Given the description of an element on the screen output the (x, y) to click on. 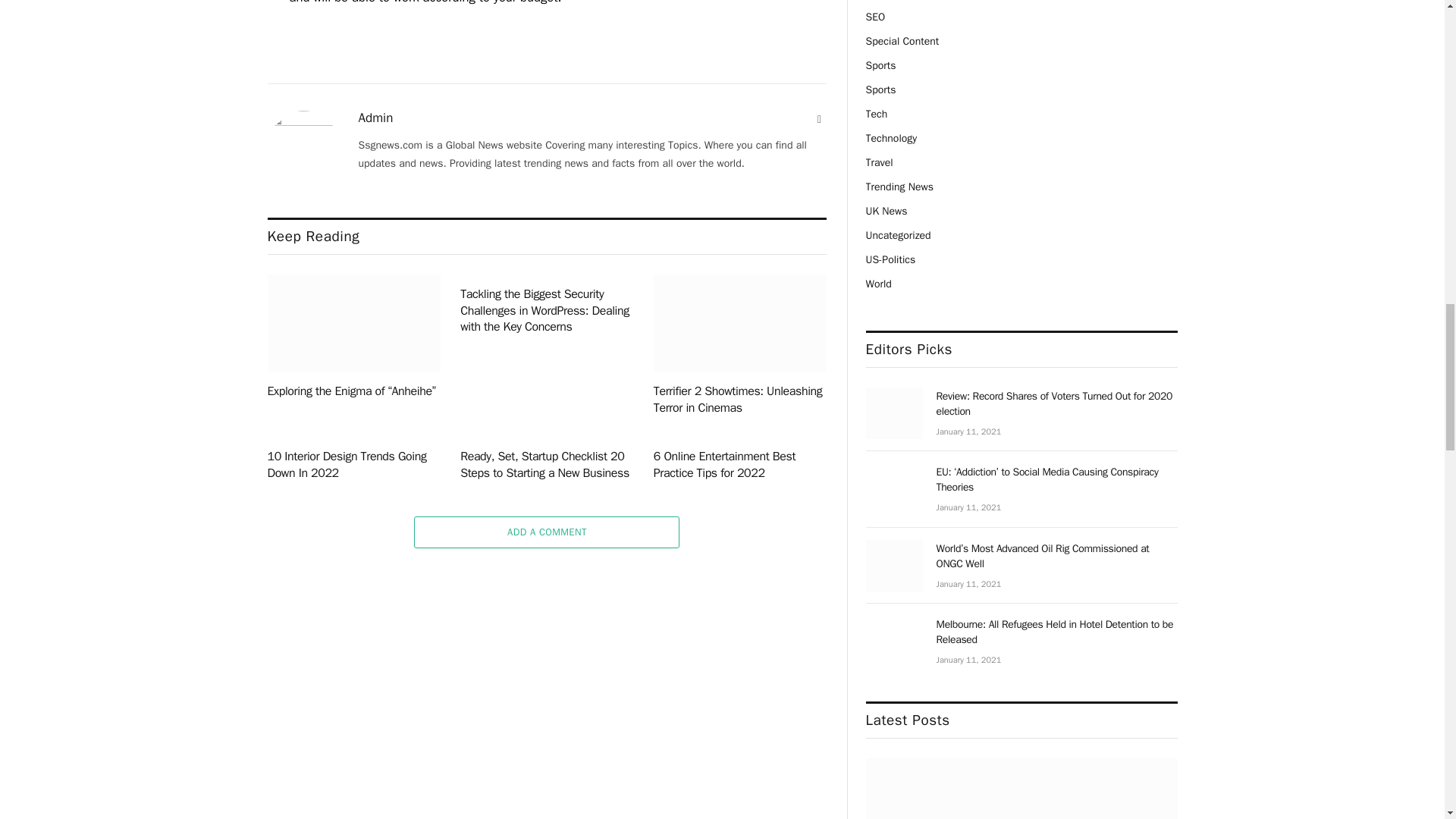
Posts by Admin (375, 118)
